Given the description of an element on the screen output the (x, y) to click on. 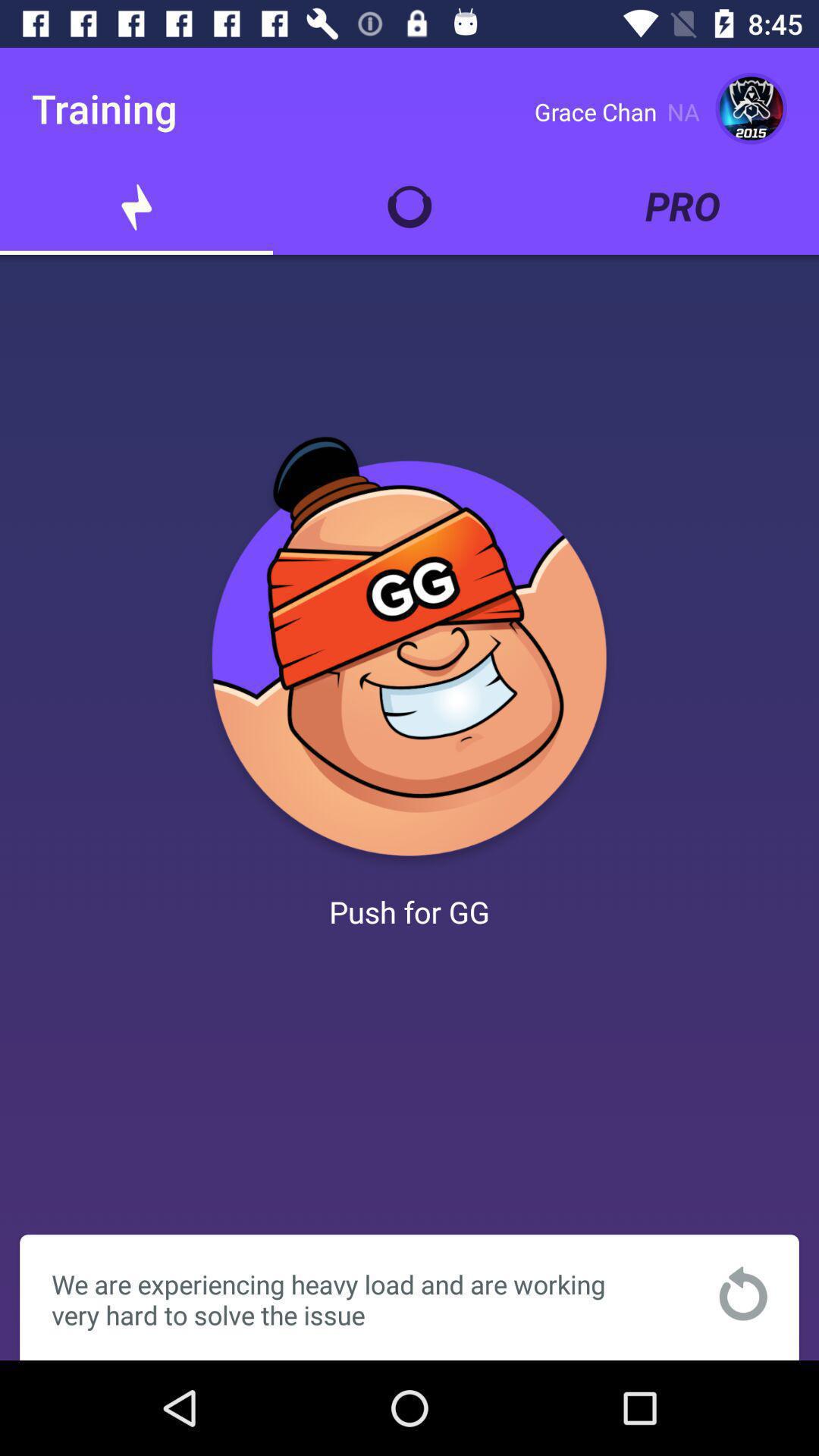
refresh to app solve issues (743, 1293)
